Given the description of an element on the screen output the (x, y) to click on. 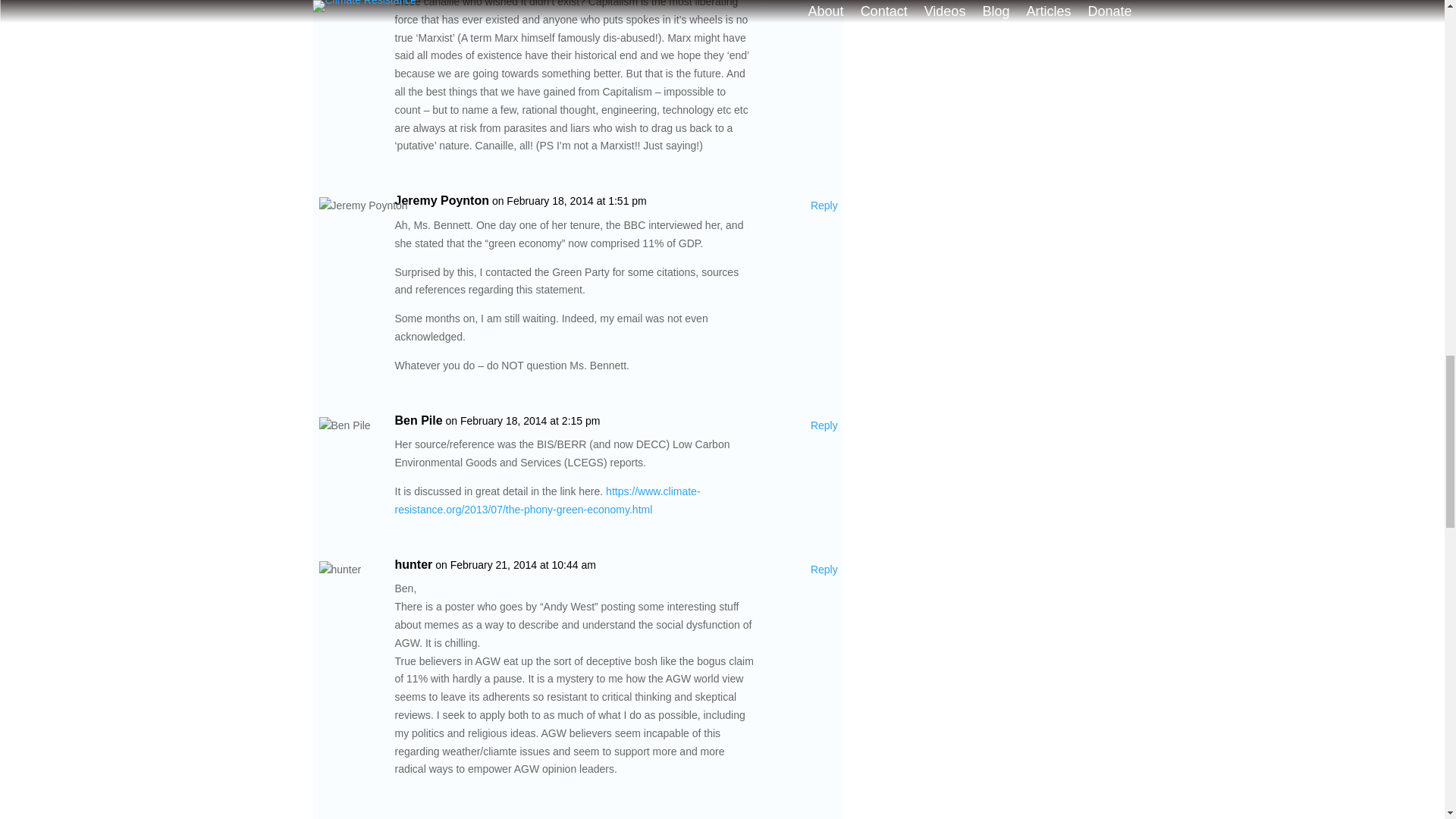
Ben Pile (418, 420)
Reply (824, 425)
Reply (824, 206)
Reply (824, 570)
Jeremy Poynton (440, 200)
